Given the description of an element on the screen output the (x, y) to click on. 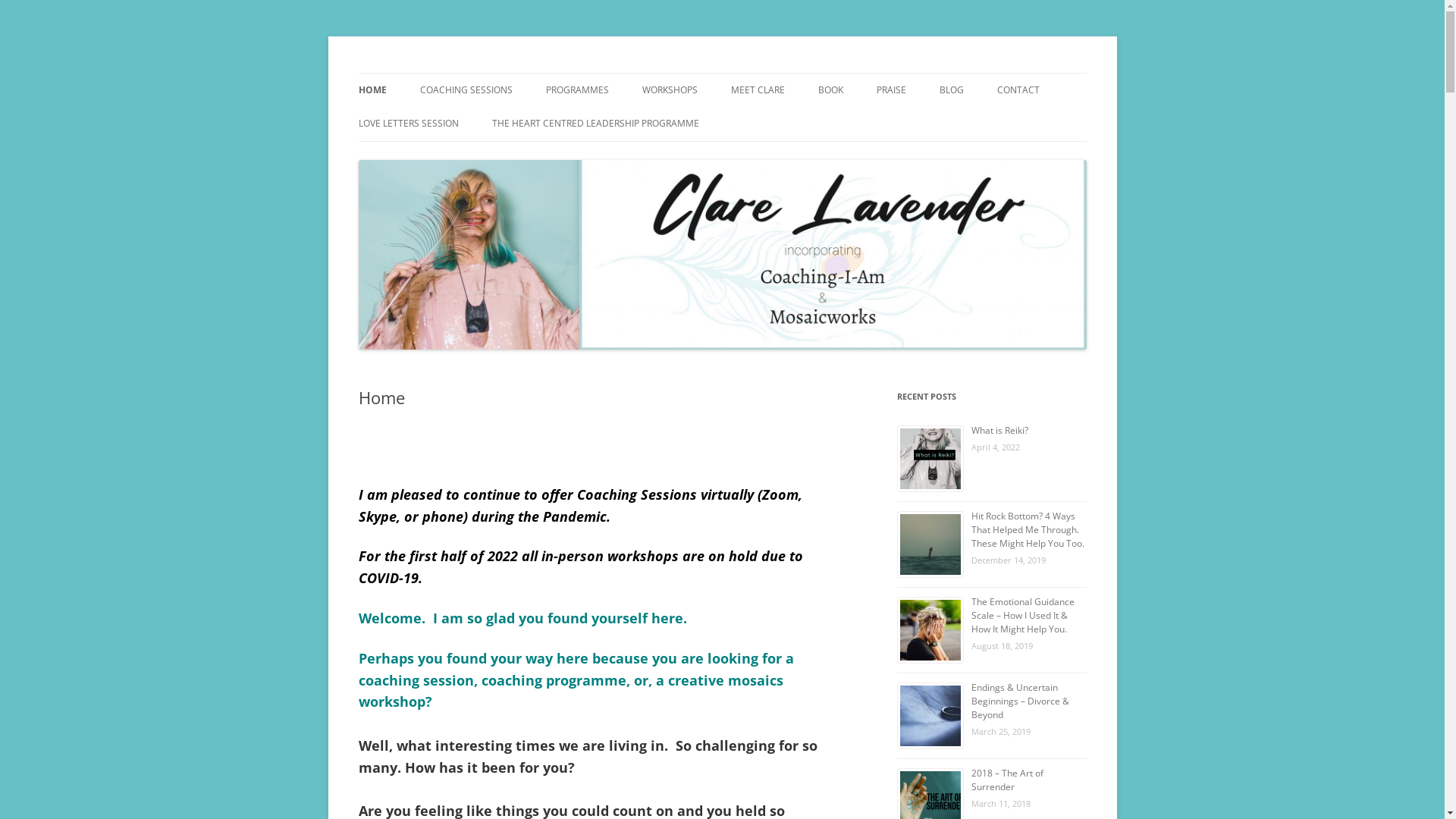
THE HEART CENTRED LEADERSHIP PROGRAMME Element type: text (594, 123)
PROGRAMMES Element type: text (577, 89)
BLOG Element type: text (950, 89)
Skip to content Element type: text (721, 72)
COACHING SESSIONS Element type: text (466, 89)
What is Reiki? Element type: text (998, 429)
MY TRAINING Element type: text (806, 122)
LOVE LETTERS SESSION Element type: text (407, 123)
CONTACT Element type: text (1017, 89)
HOME Element type: text (371, 89)
Coaching-I-Am Element type: text (428, 72)
THE DESIRE MAP Element type: text (621, 122)
PRAISE Element type: text (891, 89)
WORKSHOPS Element type: text (668, 89)
BOOK Element type: text (829, 89)
MEET CLARE Element type: text (757, 89)
